Given the description of an element on the screen output the (x, y) to click on. 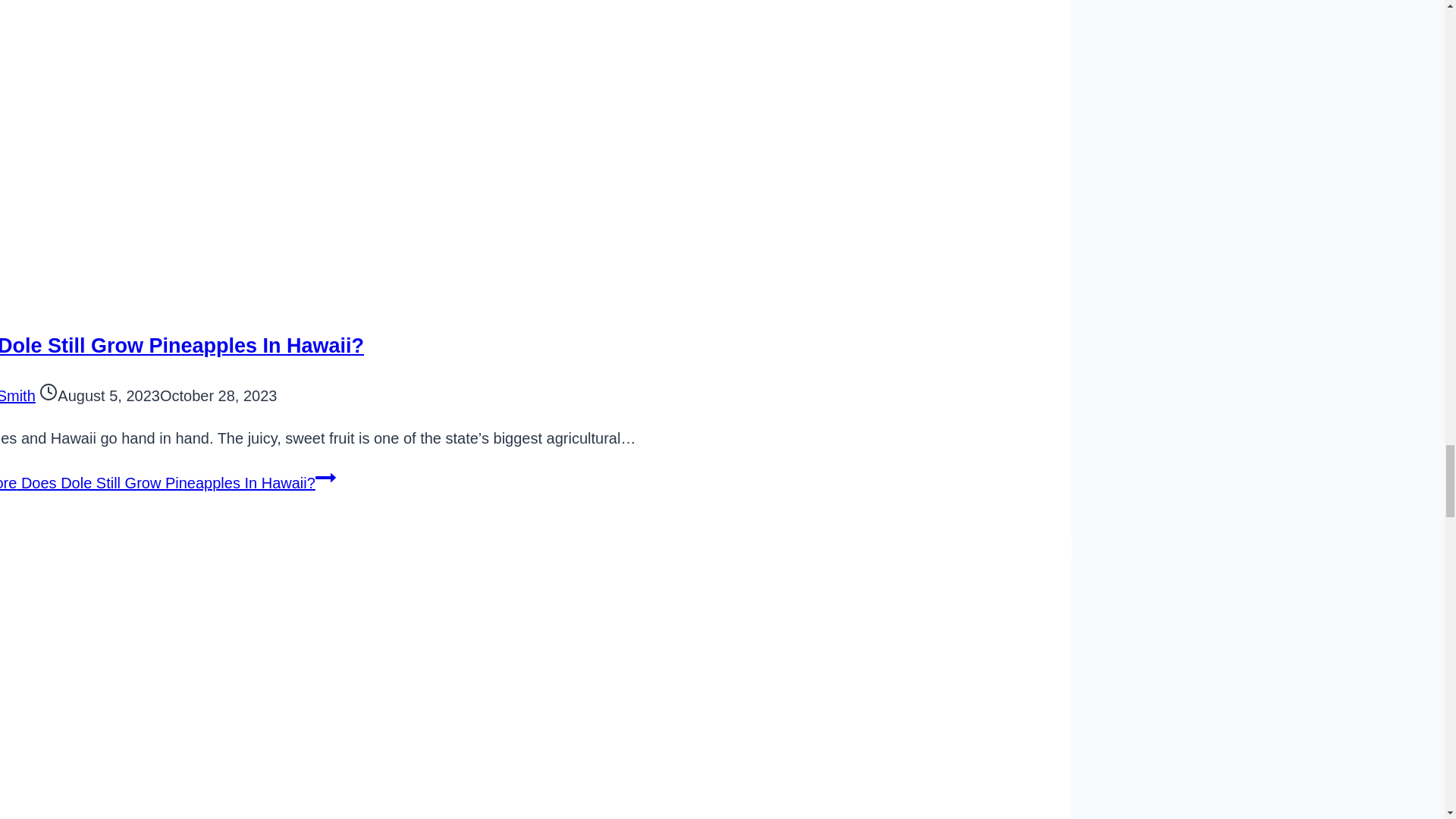
Jane Smith (17, 395)
Does Dole Still Grow Pineapples In Hawaii? (182, 345)
Read More Does Dole Still Grow Pineapples In Hawaii? (167, 483)
